Given the description of an element on the screen output the (x, y) to click on. 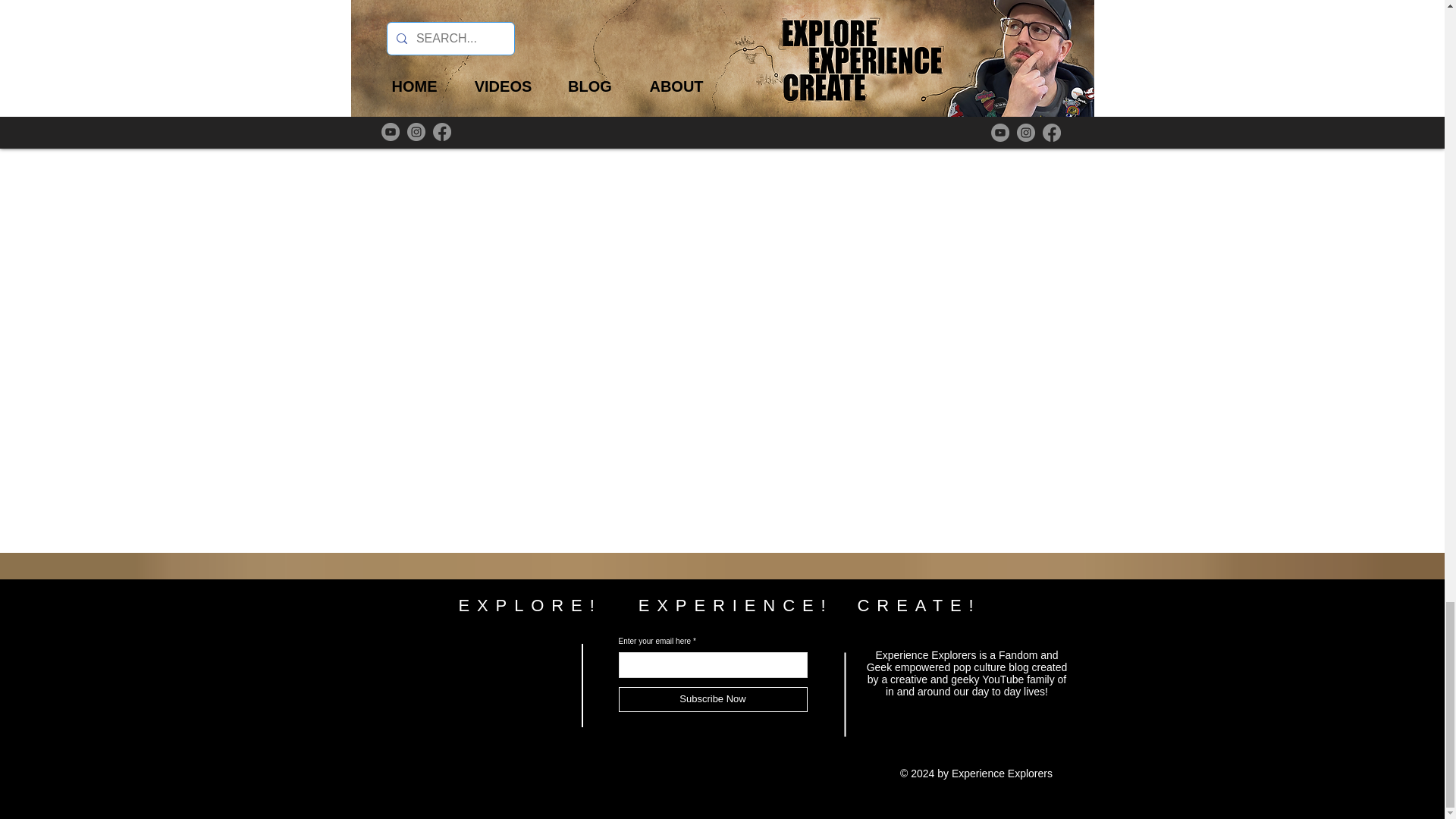
Post not marked as liked (804, 94)
More Ghostbusters Behind the Scenes! (476, 42)
0 (691, 94)
Ghostbusters Themed Haunt - Will 'Bust' Expectations (967, 42)
0 (1046, 94)
0 (931, 94)
Post not marked as liked (440, 94)
